Given the description of an element on the screen output the (x, y) to click on. 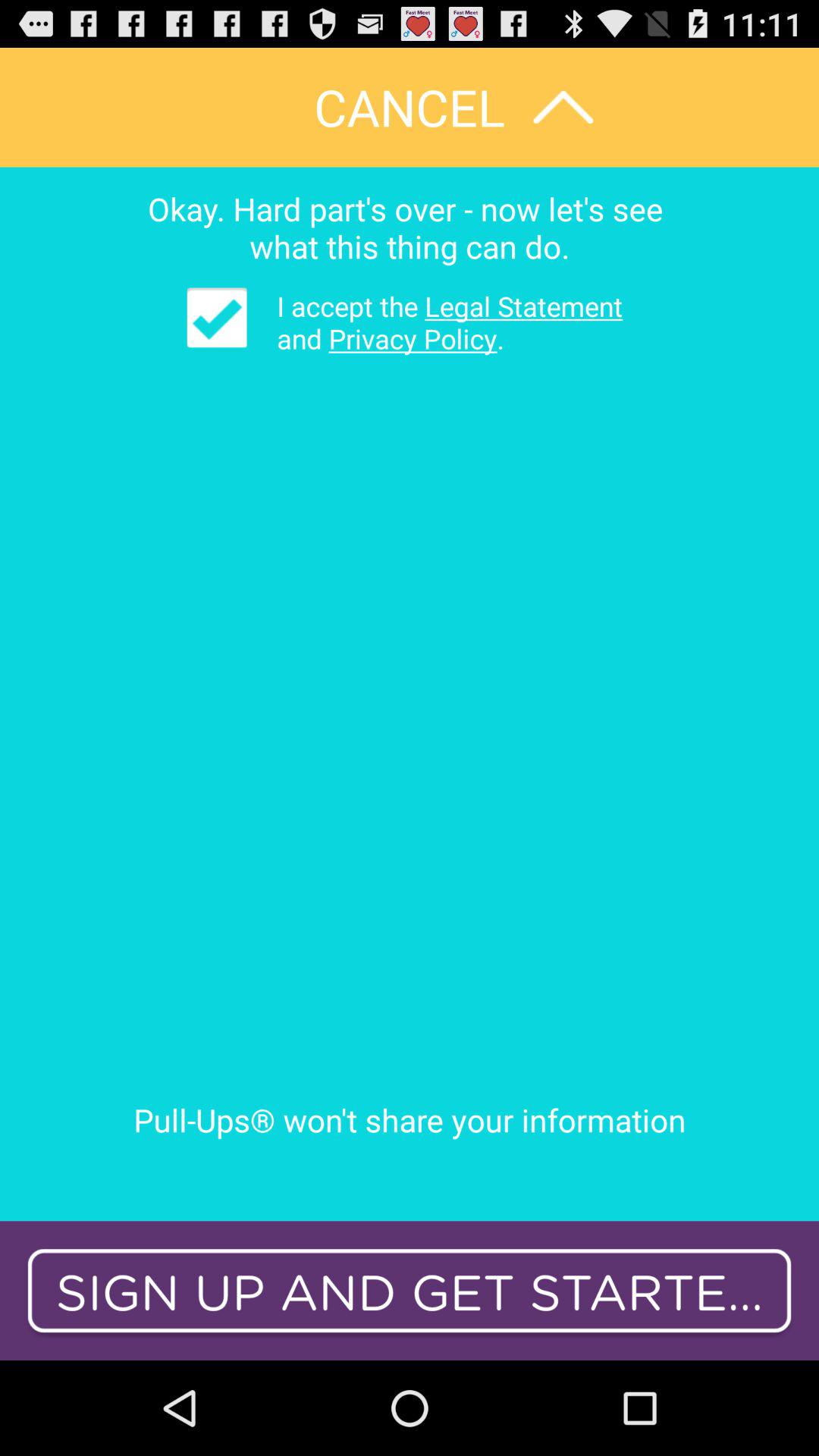
cancel app (409, 107)
